Given the description of an element on the screen output the (x, y) to click on. 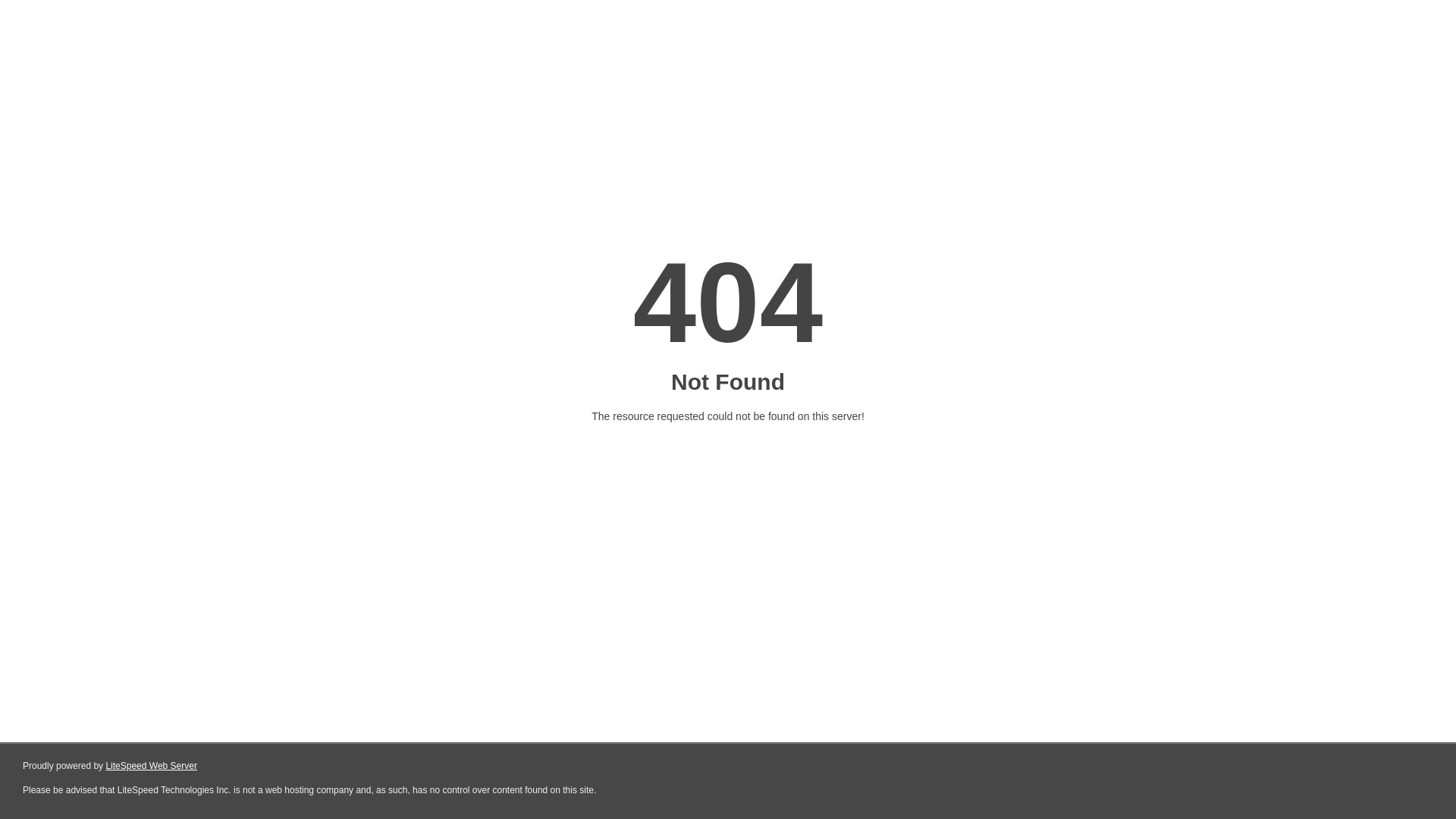
LiteSpeed Web Server (150, 765)
